Given the description of an element on the screen output the (x, y) to click on. 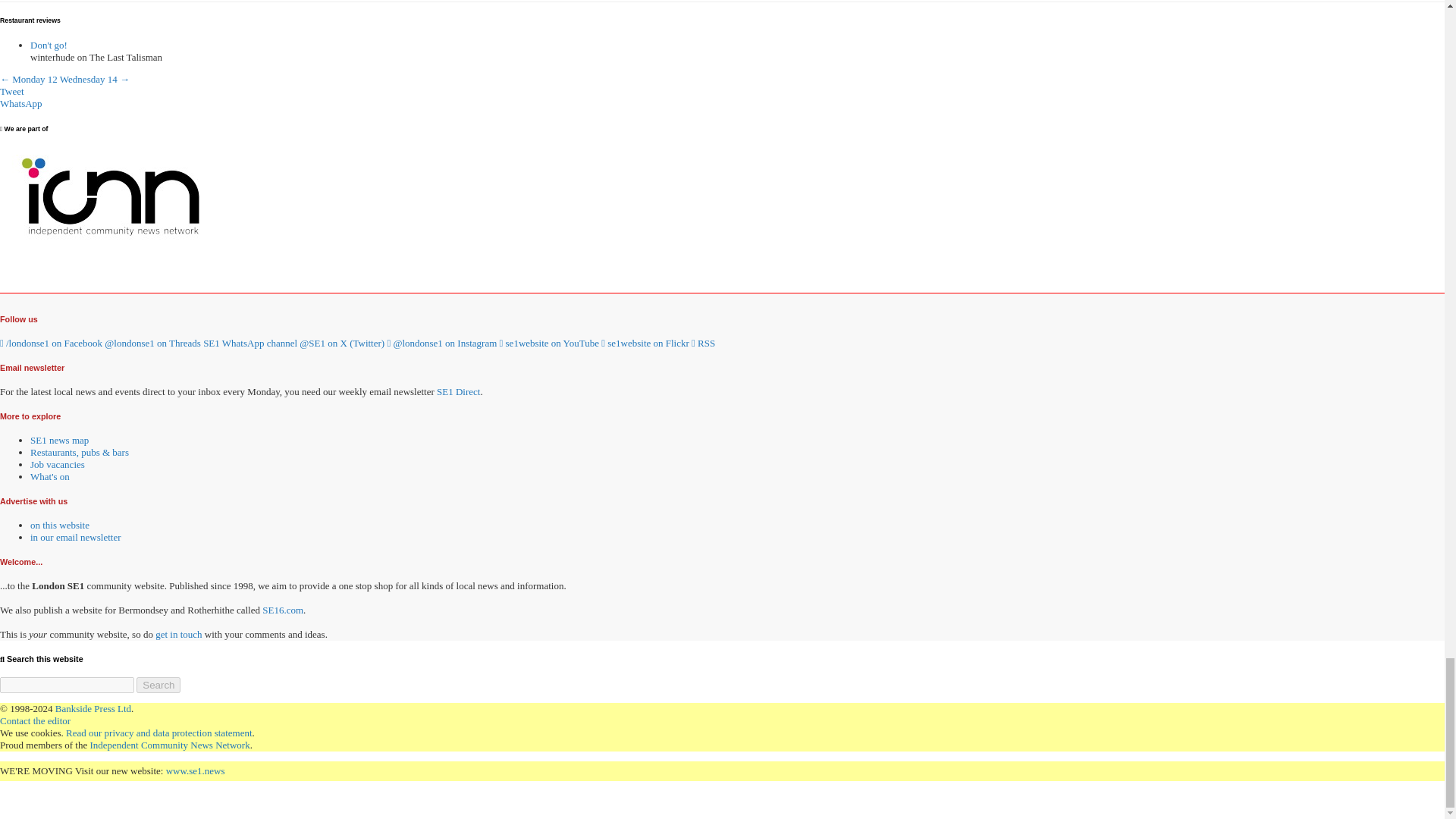
Search (158, 684)
